Given the description of an element on the screen output the (x, y) to click on. 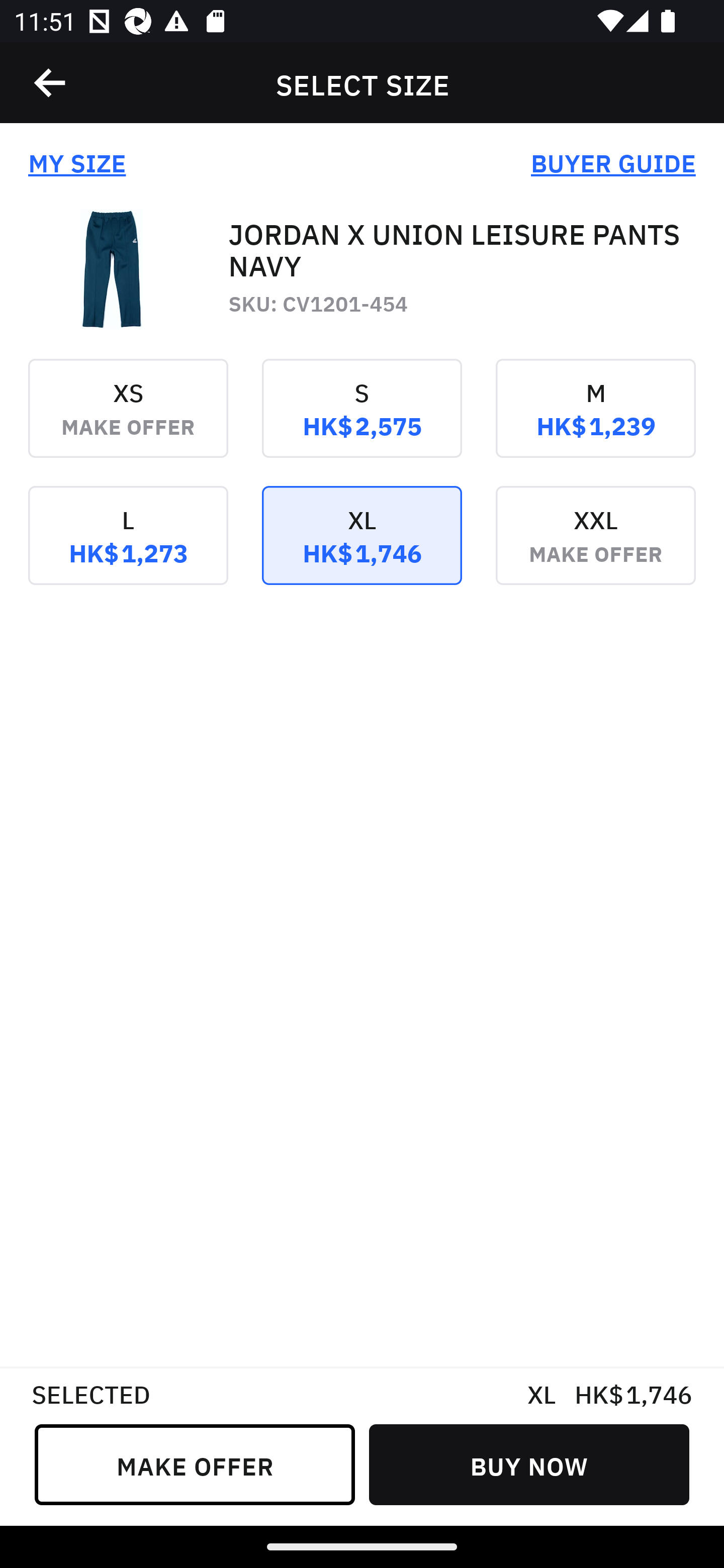
 (50, 83)
XS MAKE OFFER (128, 422)
S HK$ 2,575 (361, 422)
M HK$ 1,239 (595, 422)
L HK$ 1,273 (128, 549)
XL HK$ 1,746 (361, 549)
XXL MAKE OFFER (595, 549)
MAKE OFFER (194, 1464)
BUY NOW (529, 1464)
